Given the description of an element on the screen output the (x, y) to click on. 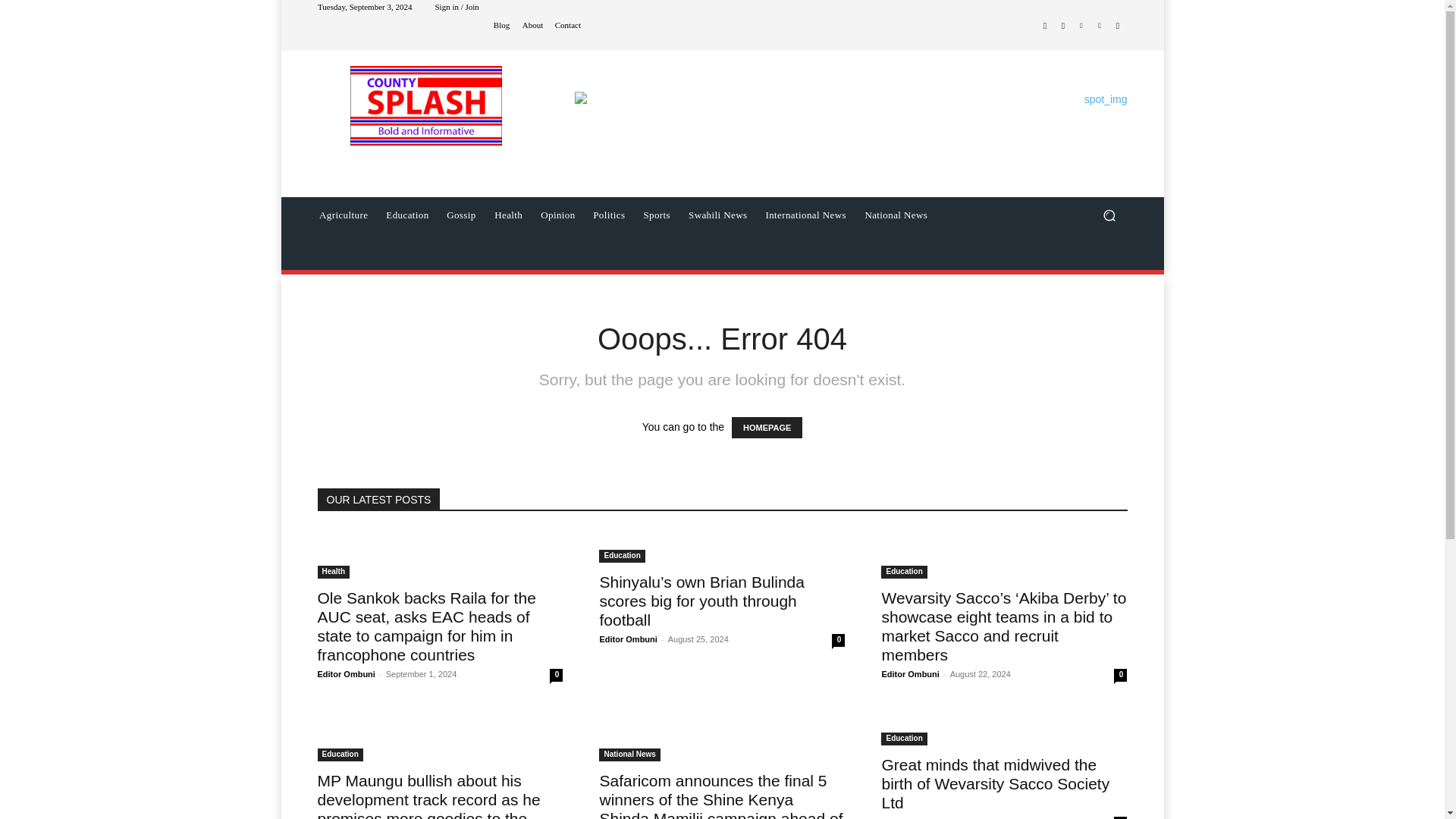
Twitter (1080, 25)
Gossip (461, 215)
Politics (608, 215)
Instagram (1062, 25)
Opinion (557, 215)
Health (507, 215)
Education (407, 215)
National News (896, 215)
Vimeo (1099, 25)
